Given the description of an element on the screen output the (x, y) to click on. 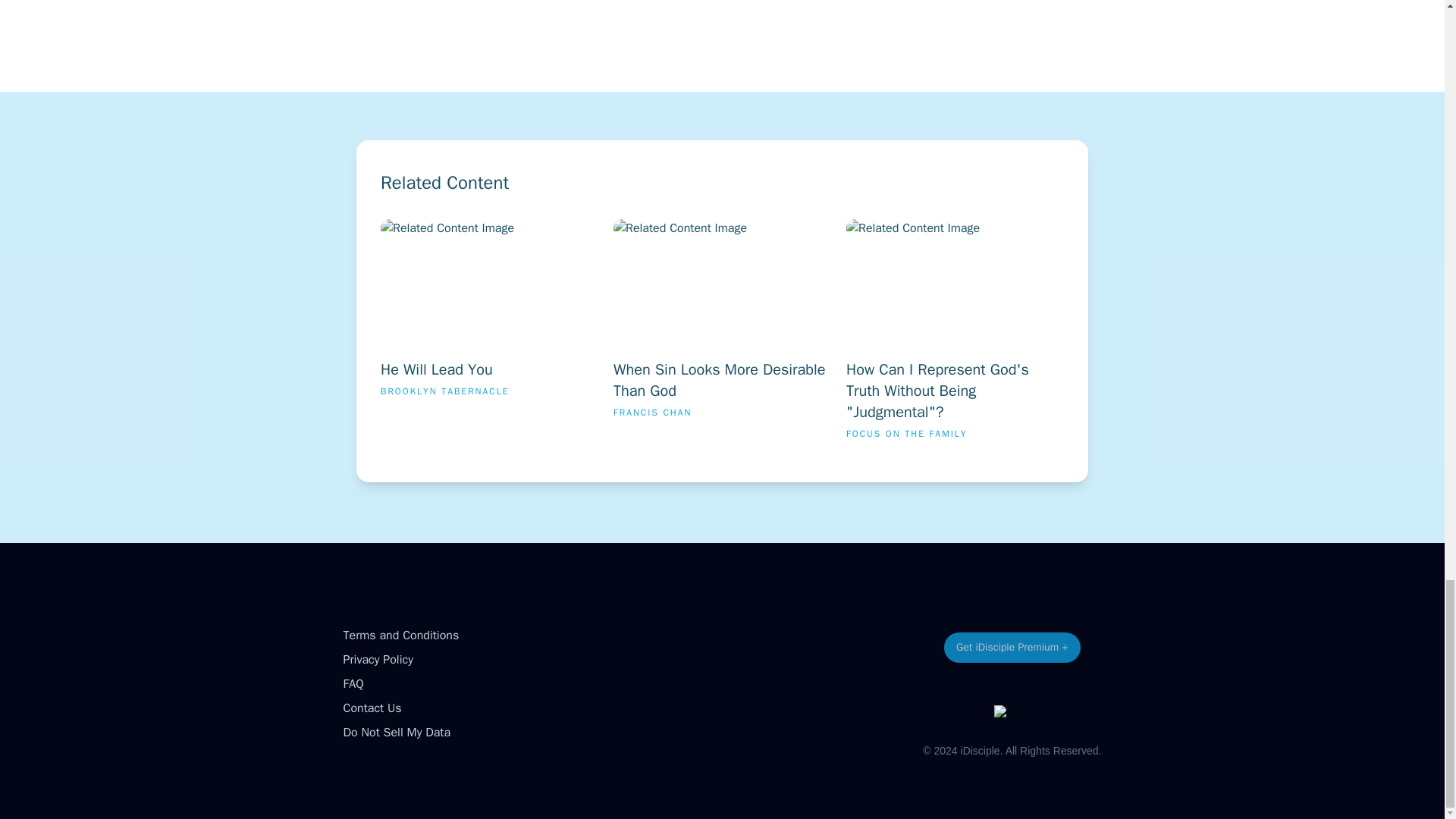
Privacy Policy (377, 659)
Terms and Conditions (400, 635)
Do Not Sell My Data (395, 732)
Contact Us (721, 335)
FAQ (371, 708)
